Given the description of an element on the screen output the (x, y) to click on. 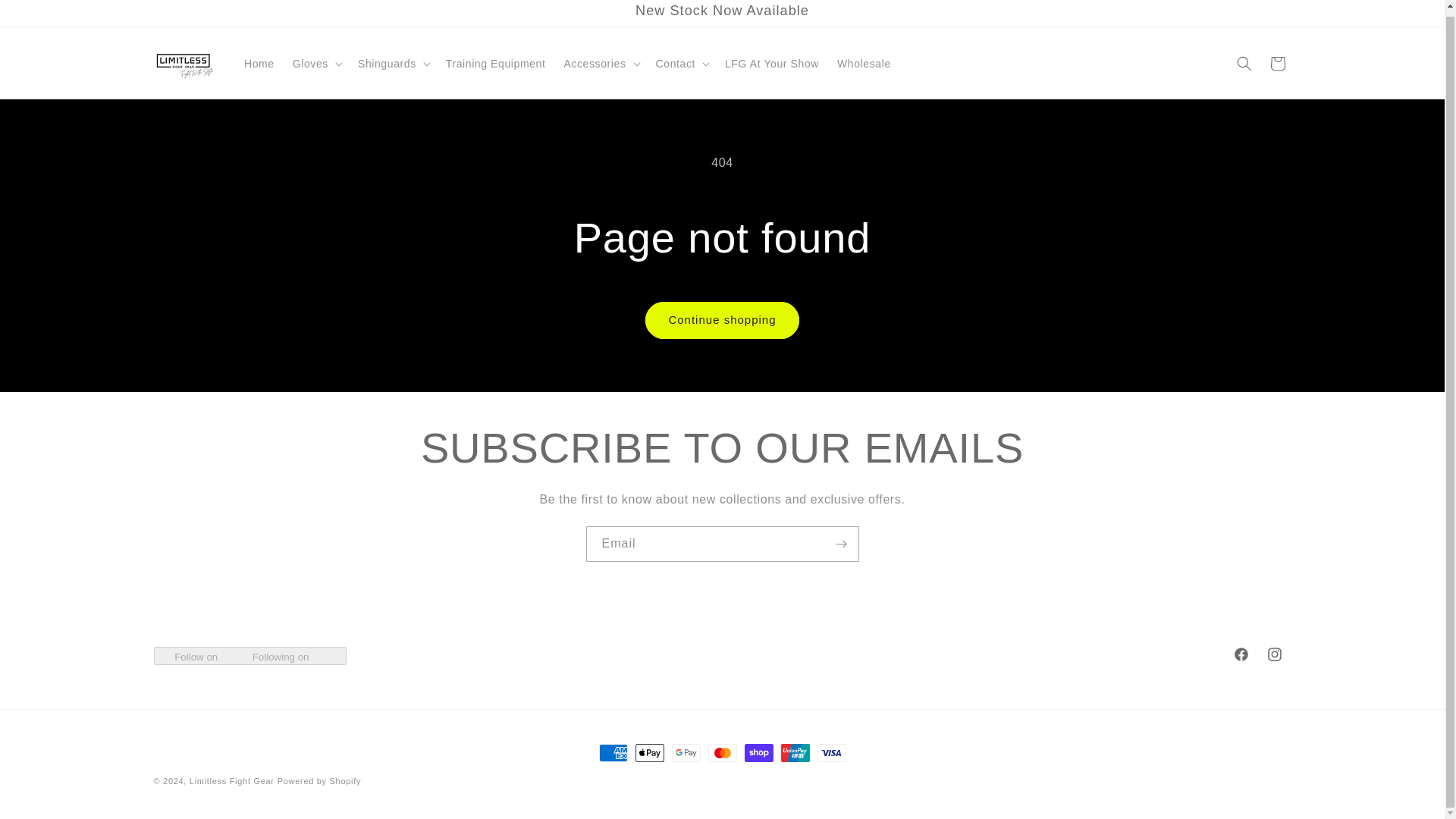
Home (258, 63)
Training Equipment (495, 63)
Skip to content (46, 15)
